Given the description of an element on the screen output the (x, y) to click on. 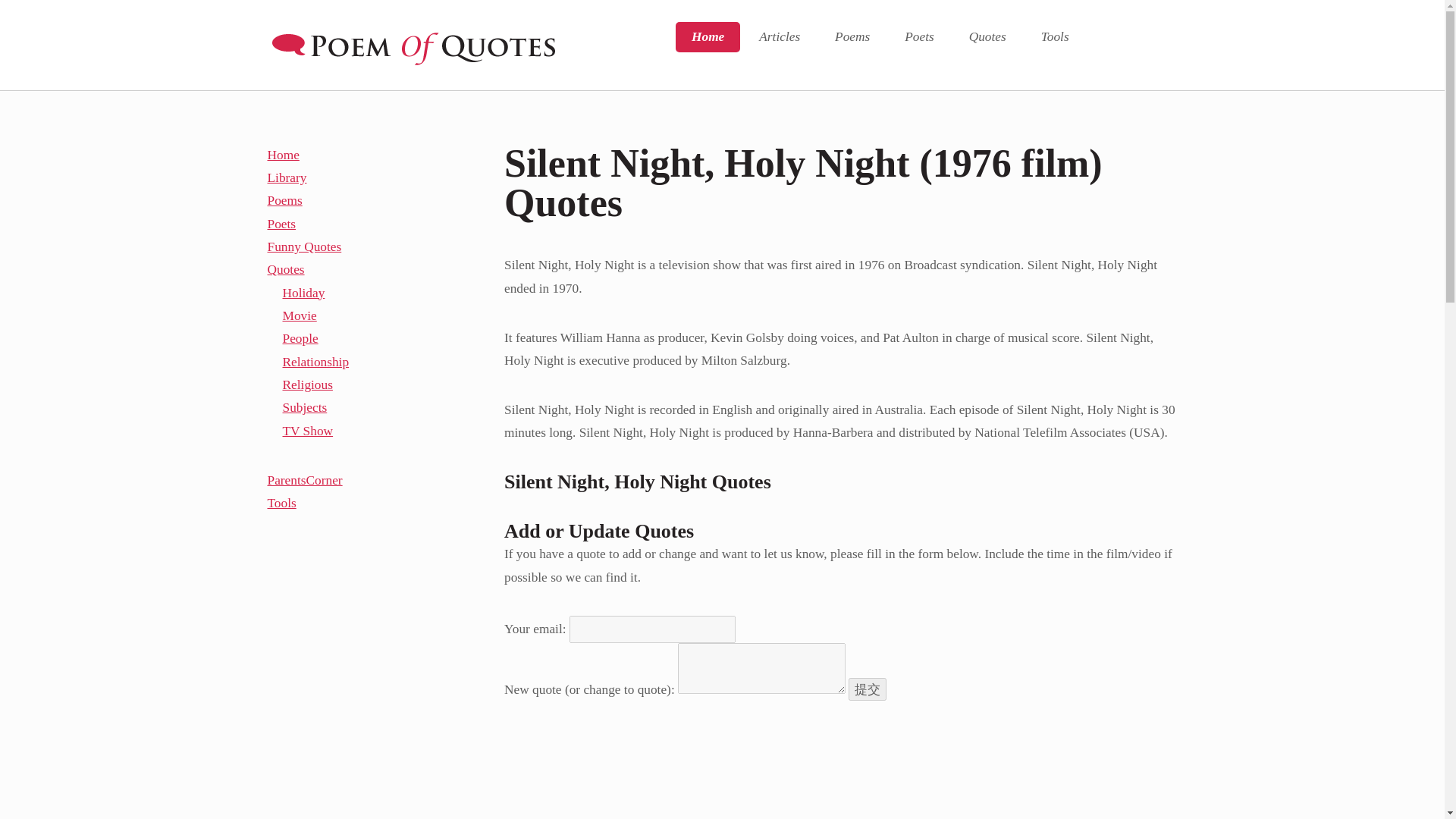
Home (707, 37)
Poems (851, 37)
Poets (918, 37)
Quotes (987, 37)
Articles (778, 37)
